Given the description of an element on the screen output the (x, y) to click on. 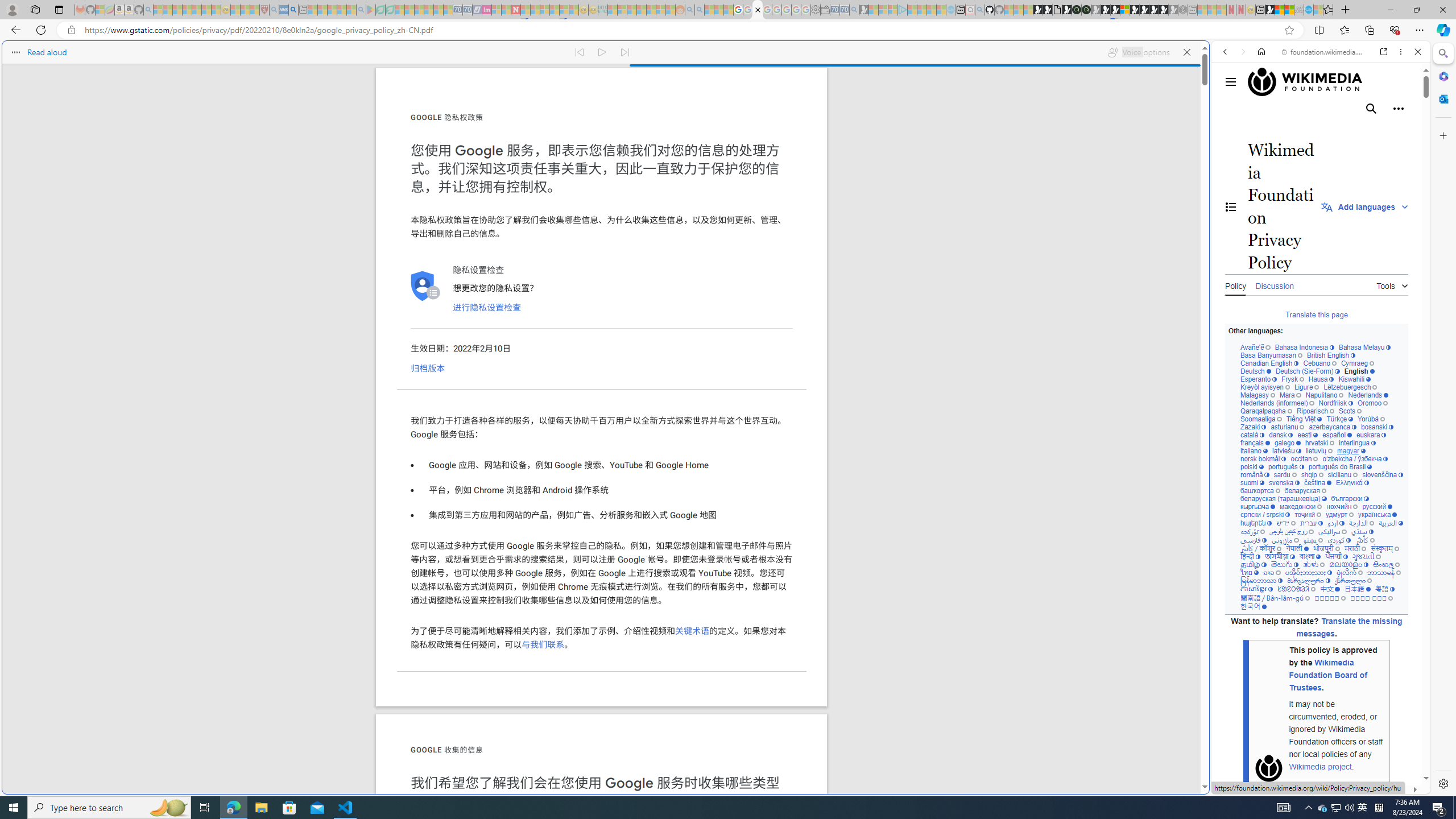
shqip (1311, 474)
Qaraqalpaqsha (1266, 411)
svenska (1284, 483)
foundation.wikimedia.org (1323, 51)
Wikimedia Foundation mark (1269, 768)
bosanski (1376, 427)
